Given the description of an element on the screen output the (x, y) to click on. 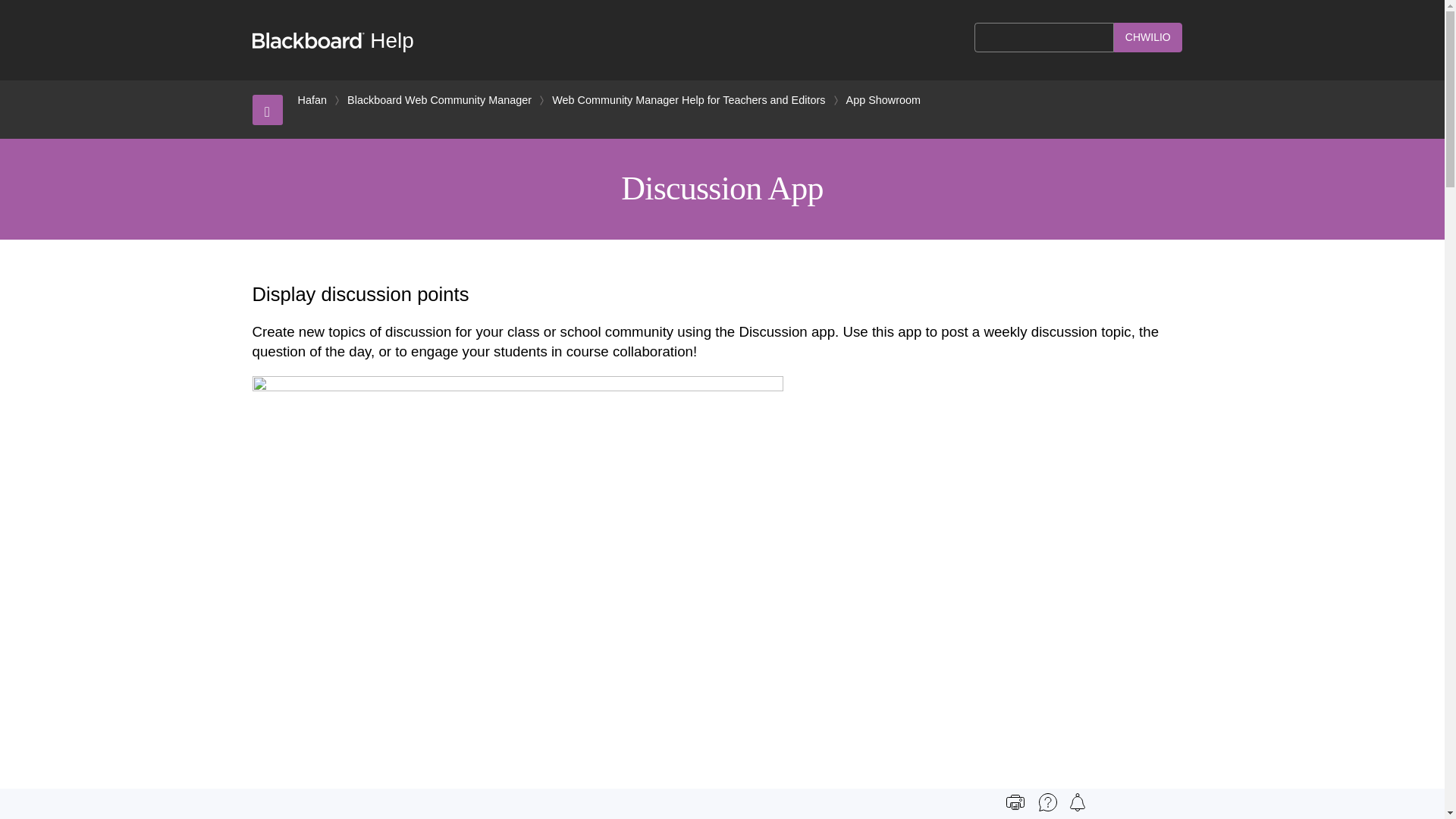
App Showroom (882, 99)
Chwilio (1147, 37)
Chwilio (1147, 37)
Blackboard Help (332, 40)
Hafan (311, 99)
Blackboard Web Community Manager (439, 99)
Web Community Manager Help for Teachers and Editors (688, 99)
